Given the description of an element on the screen output the (x, y) to click on. 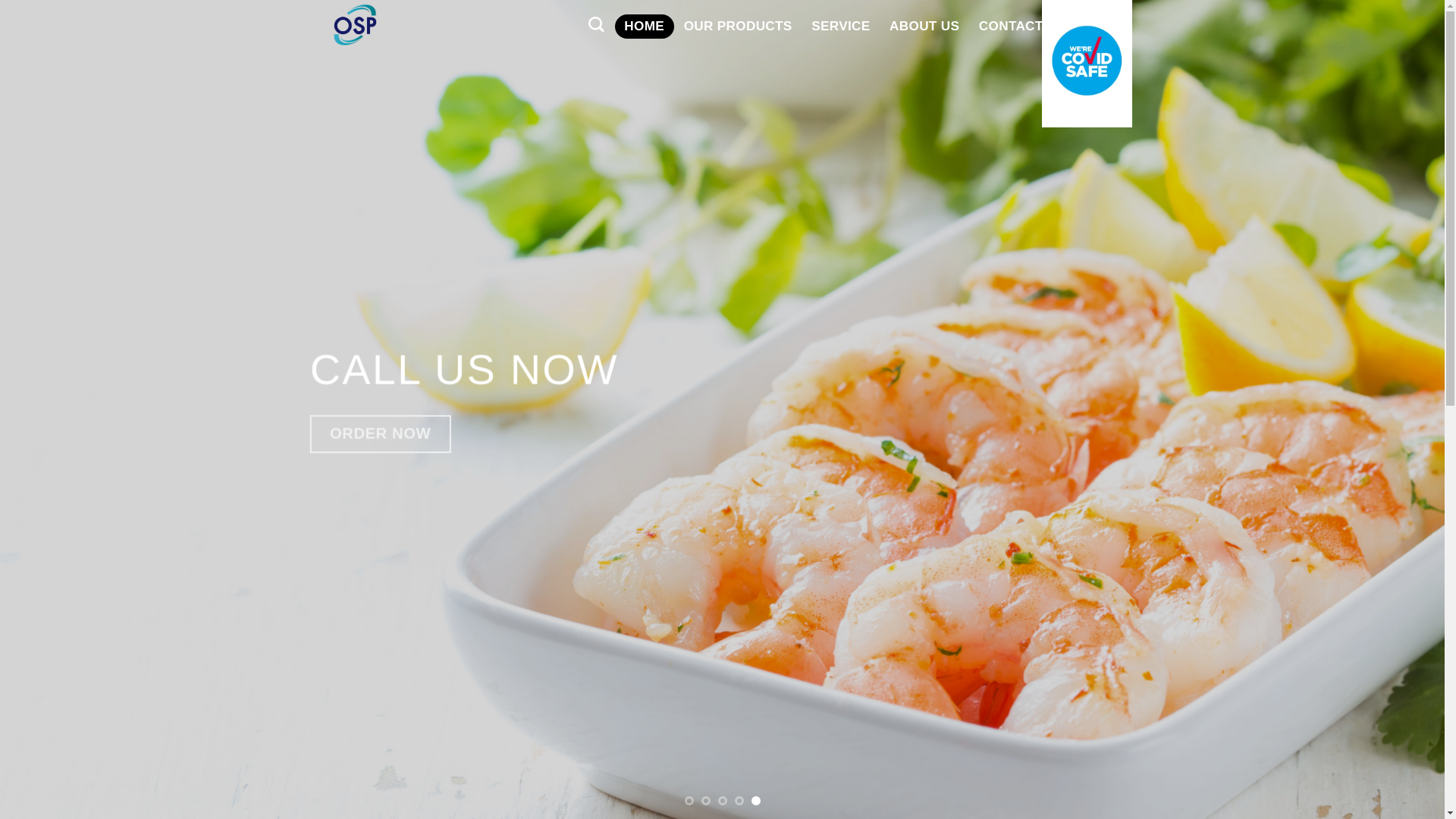
ORDER NOW Element type: text (440, 433)
Skip to content Element type: text (0, 0)
OUR PRODUCTS Element type: text (738, 25)
CONTACT US Element type: text (1022, 25)
SERVICE Element type: text (840, 25)
ABOUT US Element type: text (924, 25)
Oceania Sea Products - OSP Element type: hover (440, 26)
HOME Element type: text (643, 25)
